Given the description of an element on the screen output the (x, y) to click on. 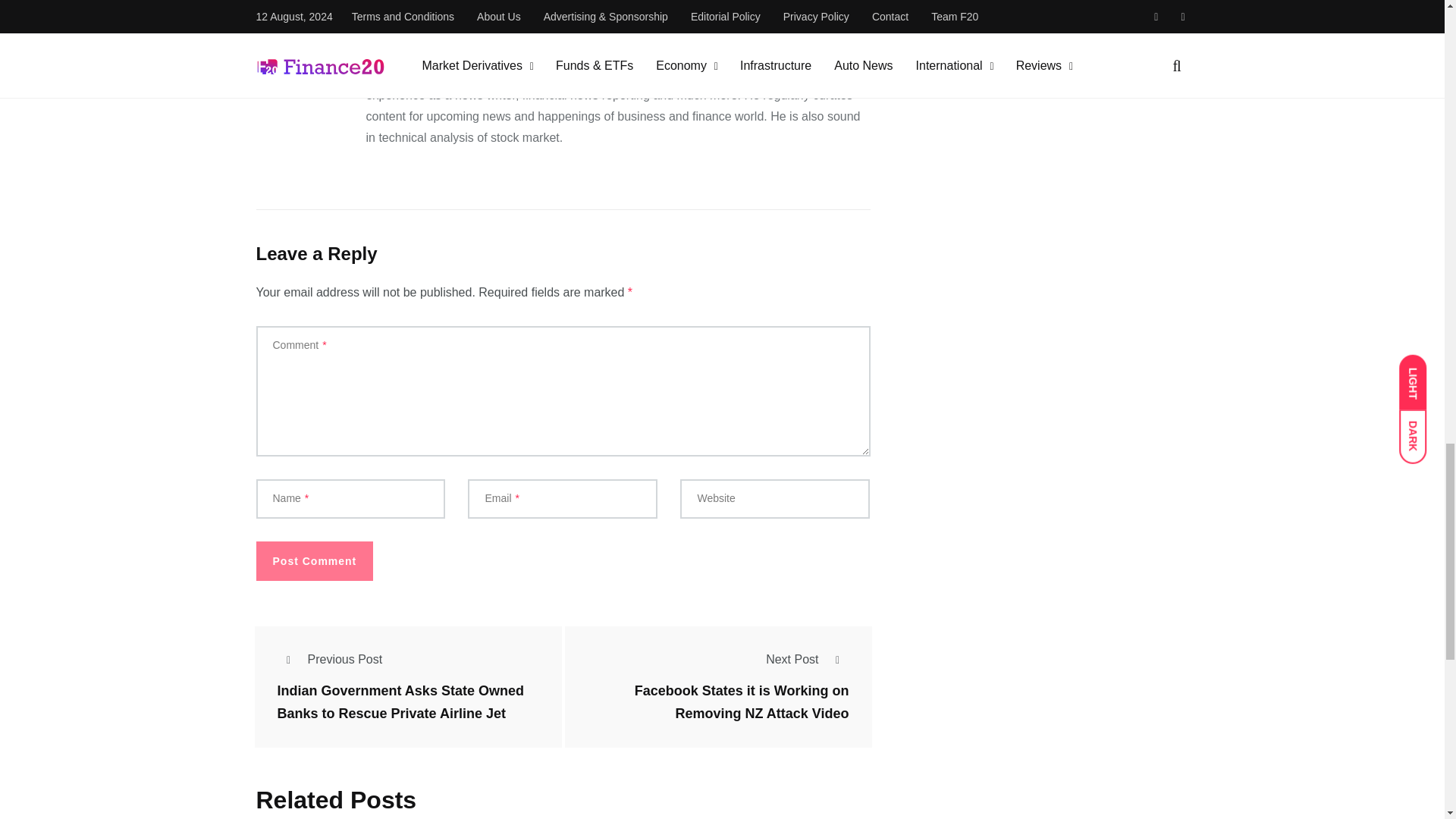
Posts by Antonio Moberg (417, 15)
Post Comment (315, 560)
Post Comment (315, 560)
Antonio Moberg (417, 15)
